Given the description of an element on the screen output the (x, y) to click on. 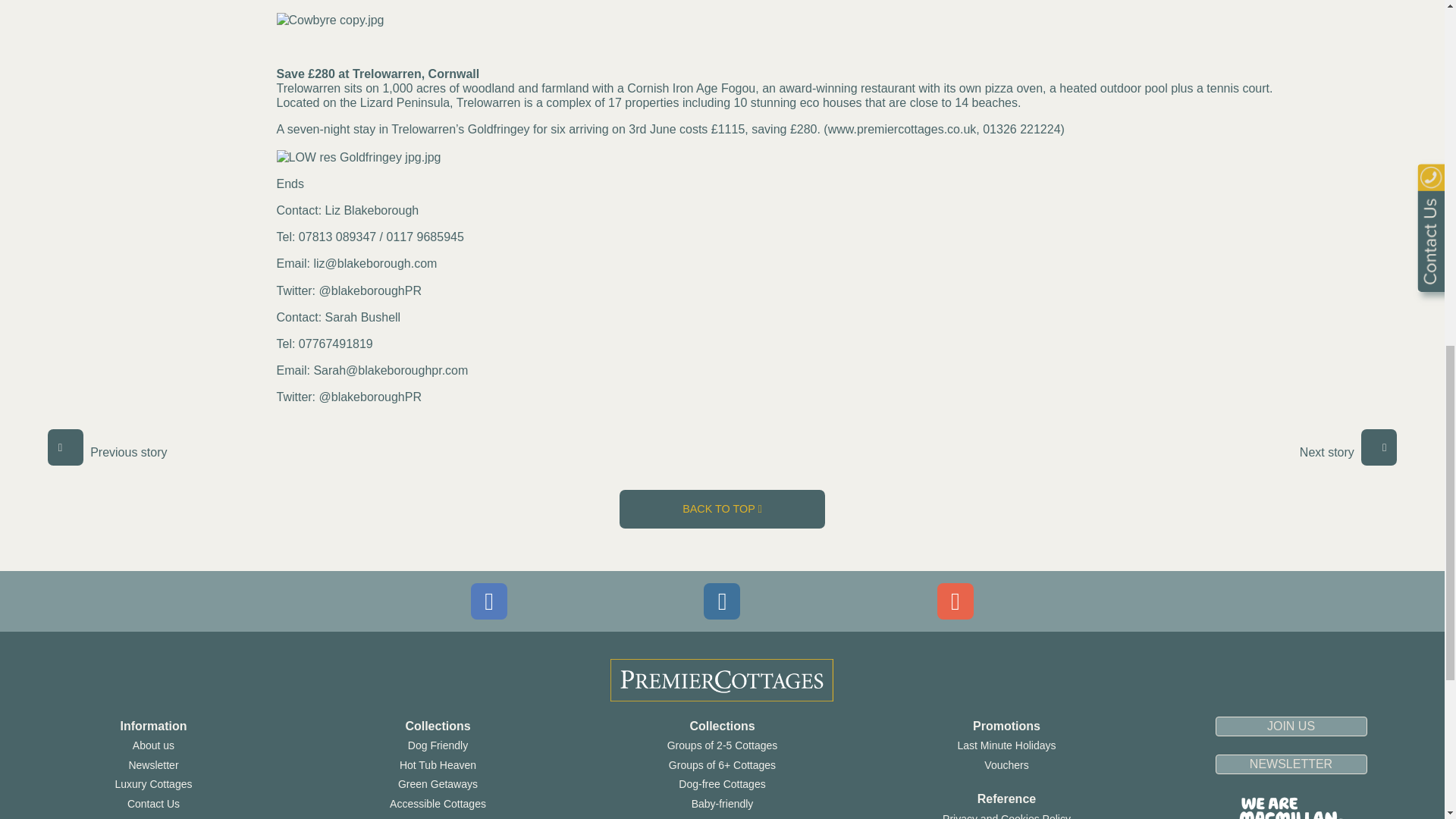
Hot Tub Heaven (437, 765)
Contact Us (153, 803)
Luxury Cottages (153, 784)
Newsletter (152, 765)
Luxury Cottages (153, 784)
About Premier Cottages (153, 745)
BACK TO TOP (722, 508)
Join Us (153, 818)
Green Getaways (437, 784)
Follow us on Instagram (721, 601)
